Given the description of an element on the screen output the (x, y) to click on. 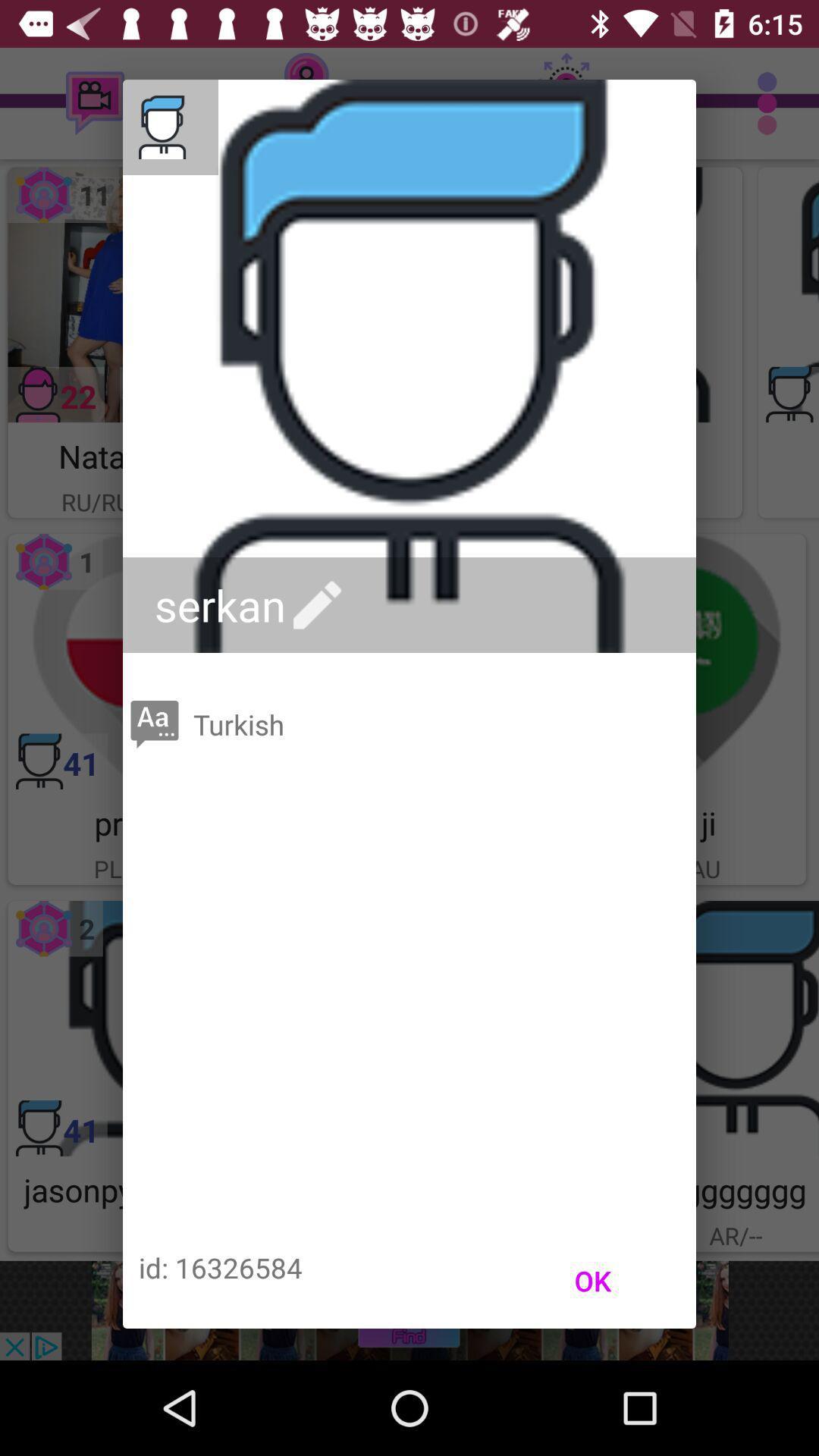
choose the ok item (592, 1280)
